Given the description of an element on the screen output the (x, y) to click on. 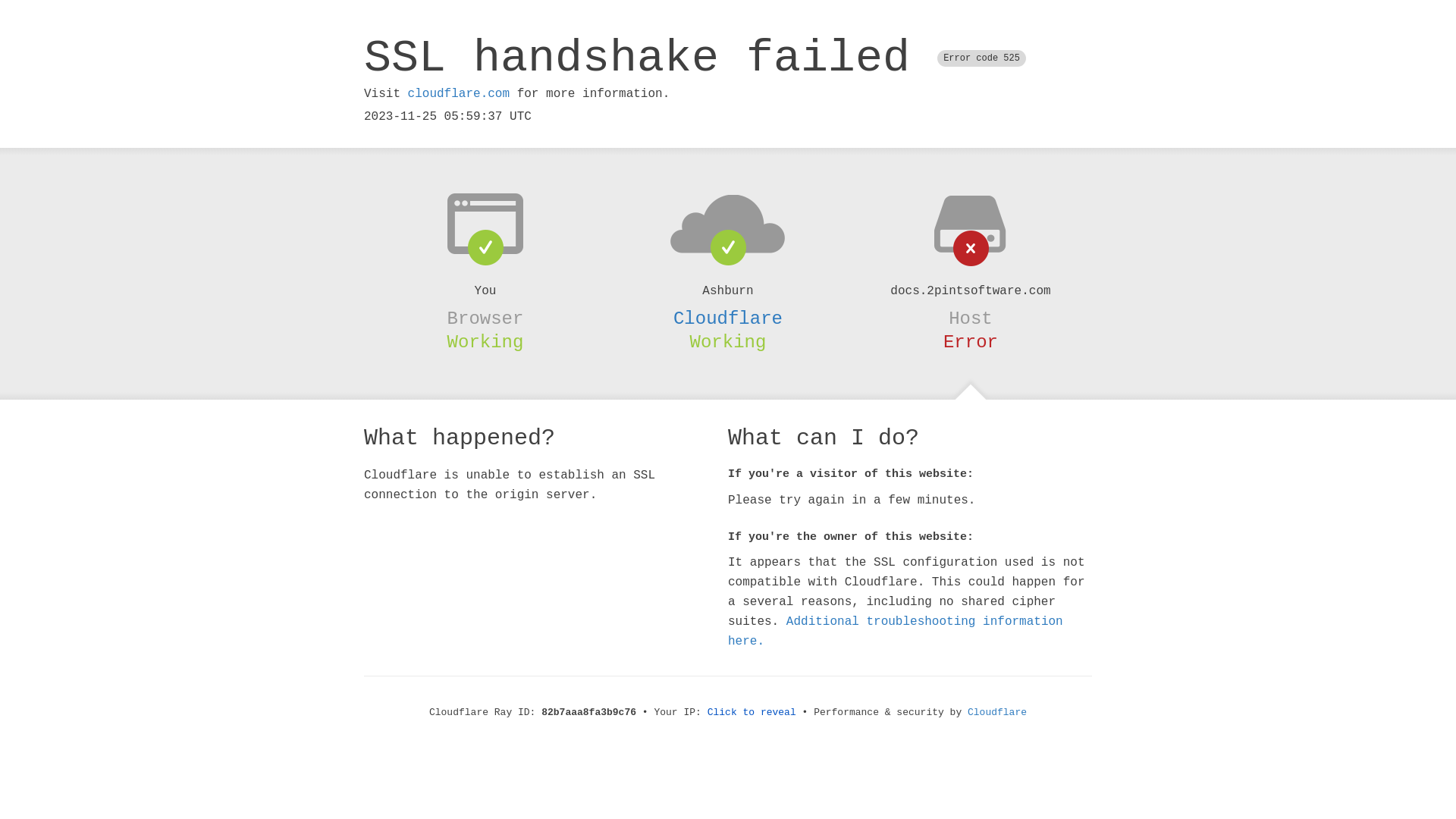
cloudflare.com Element type: text (458, 93)
Cloudflare Element type: text (996, 712)
Cloudflare Element type: text (727, 318)
Additional troubleshooting information here. Element type: text (895, 631)
Click to reveal Element type: text (751, 712)
